Given the description of an element on the screen output the (x, y) to click on. 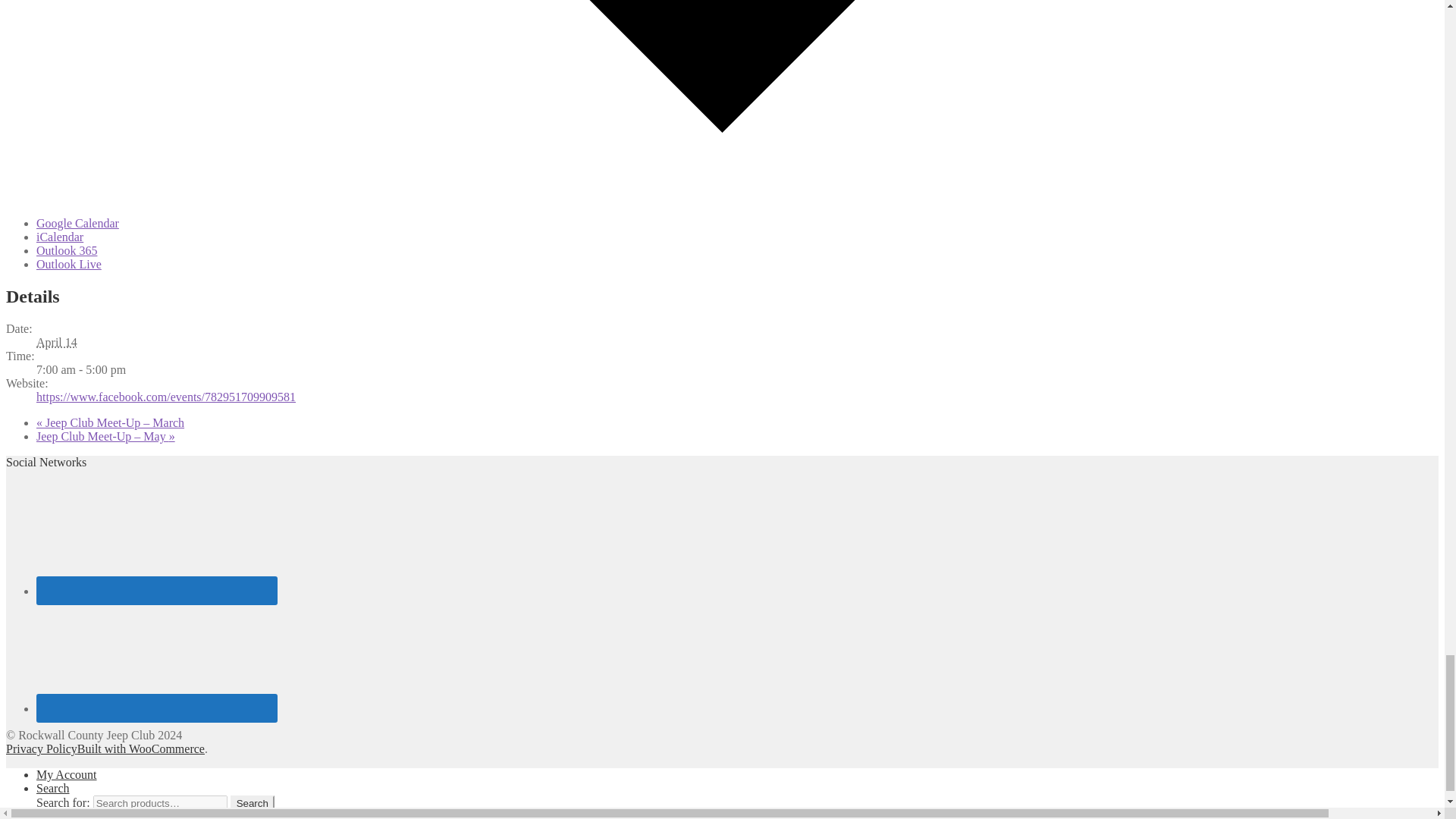
Facebook (156, 538)
2024-04-14 (56, 341)
Instagram (156, 655)
WooCommerce - The Best eCommerce Platform for WordPress (141, 748)
